Given the description of an element on the screen output the (x, y) to click on. 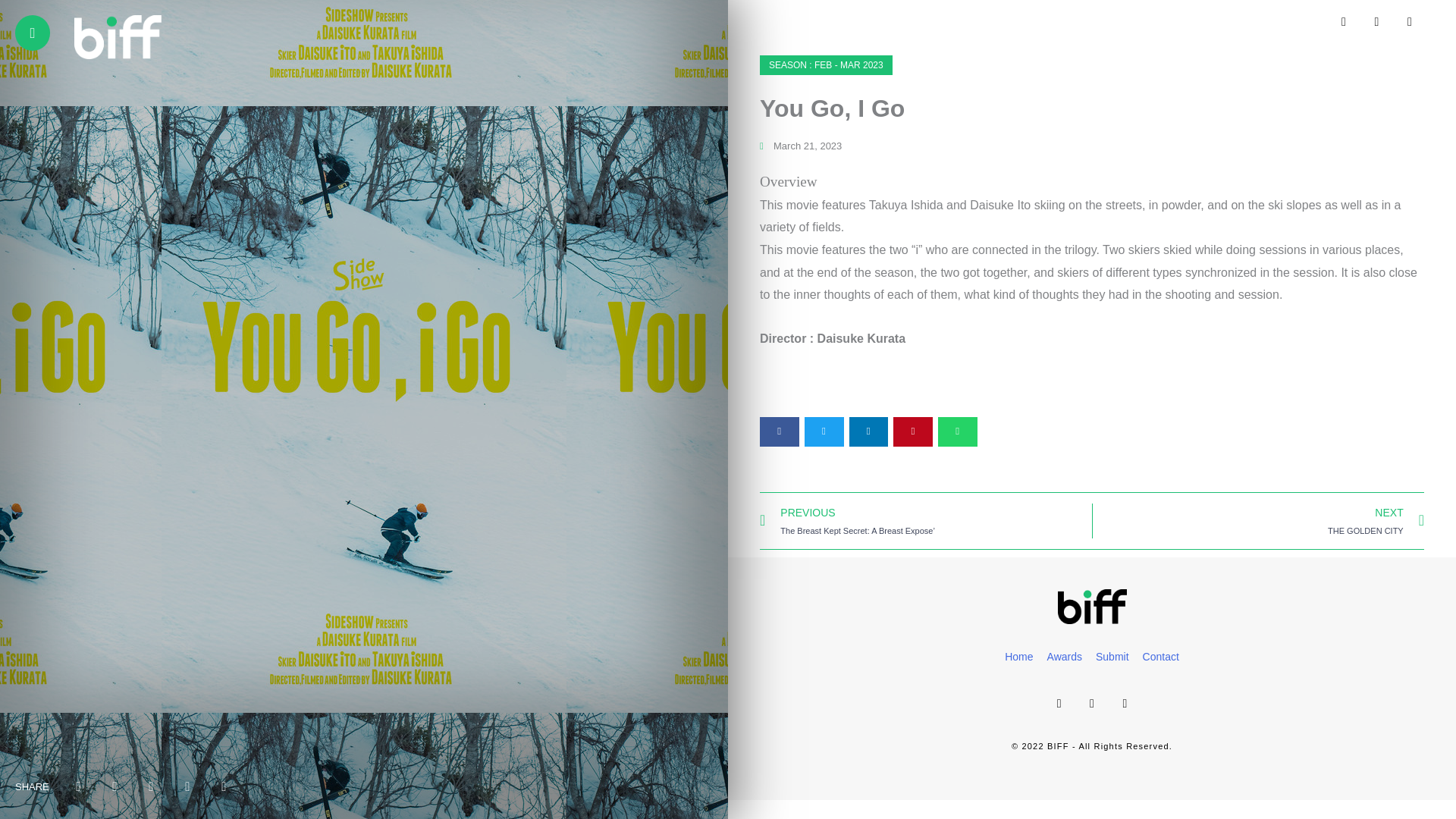
Submit (1112, 656)
Home (1018, 656)
SEASON : FEB - MAR 2023 (826, 65)
Contact (1257, 520)
Awards (1160, 656)
